Given the description of an element on the screen output the (x, y) to click on. 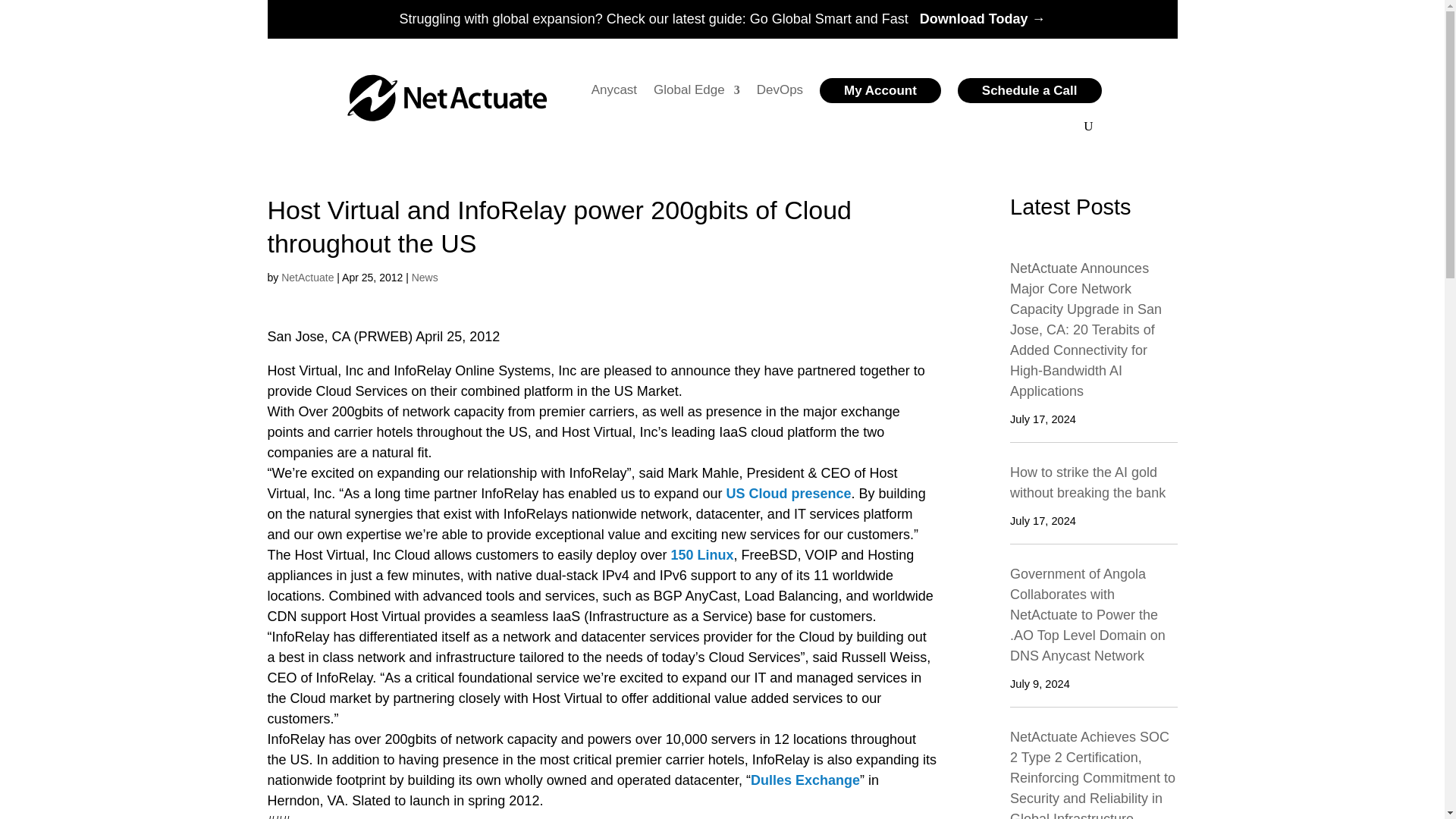
NetActuate (307, 277)
Global Edge (696, 89)
150 Linux (701, 554)
How to strike the AI gold without breaking the bank (1088, 482)
US Cloud presence (788, 493)
Posts by NetActuate (307, 277)
News (425, 277)
My Account (879, 89)
Dulles Exchange (805, 780)
Schedule a Call (1030, 89)
